Given the description of an element on the screen output the (x, y) to click on. 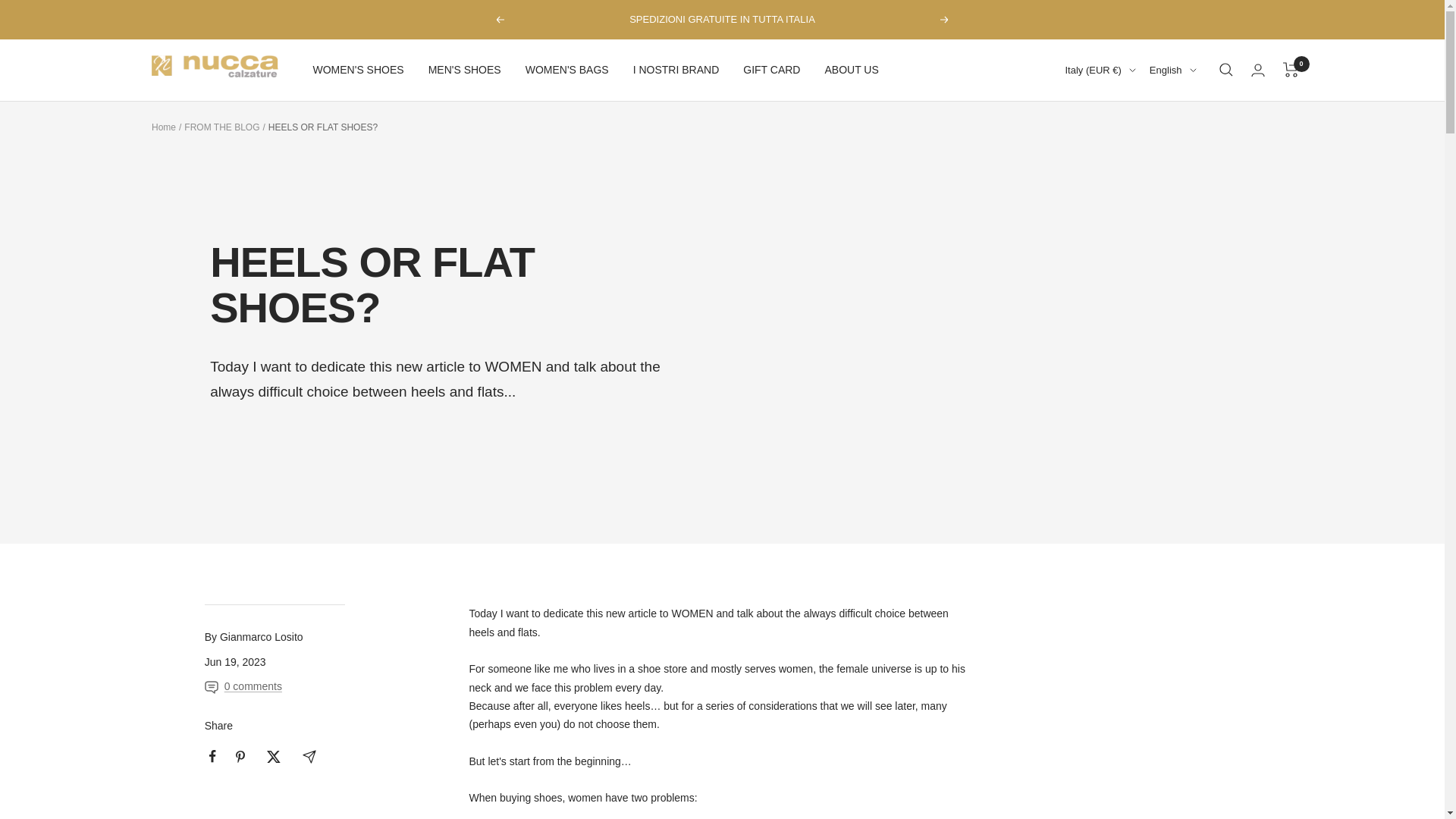
AF (994, 121)
I NOSTRI BRAND (676, 69)
AI (994, 262)
BJ (994, 595)
AT (994, 405)
AX (994, 144)
AW (994, 334)
AU (994, 382)
Calzature Nucca (213, 69)
BO (994, 666)
BM (994, 618)
AG (994, 286)
AD (994, 216)
BZ (994, 571)
BA (994, 689)
